Given the description of an element on the screen output the (x, y) to click on. 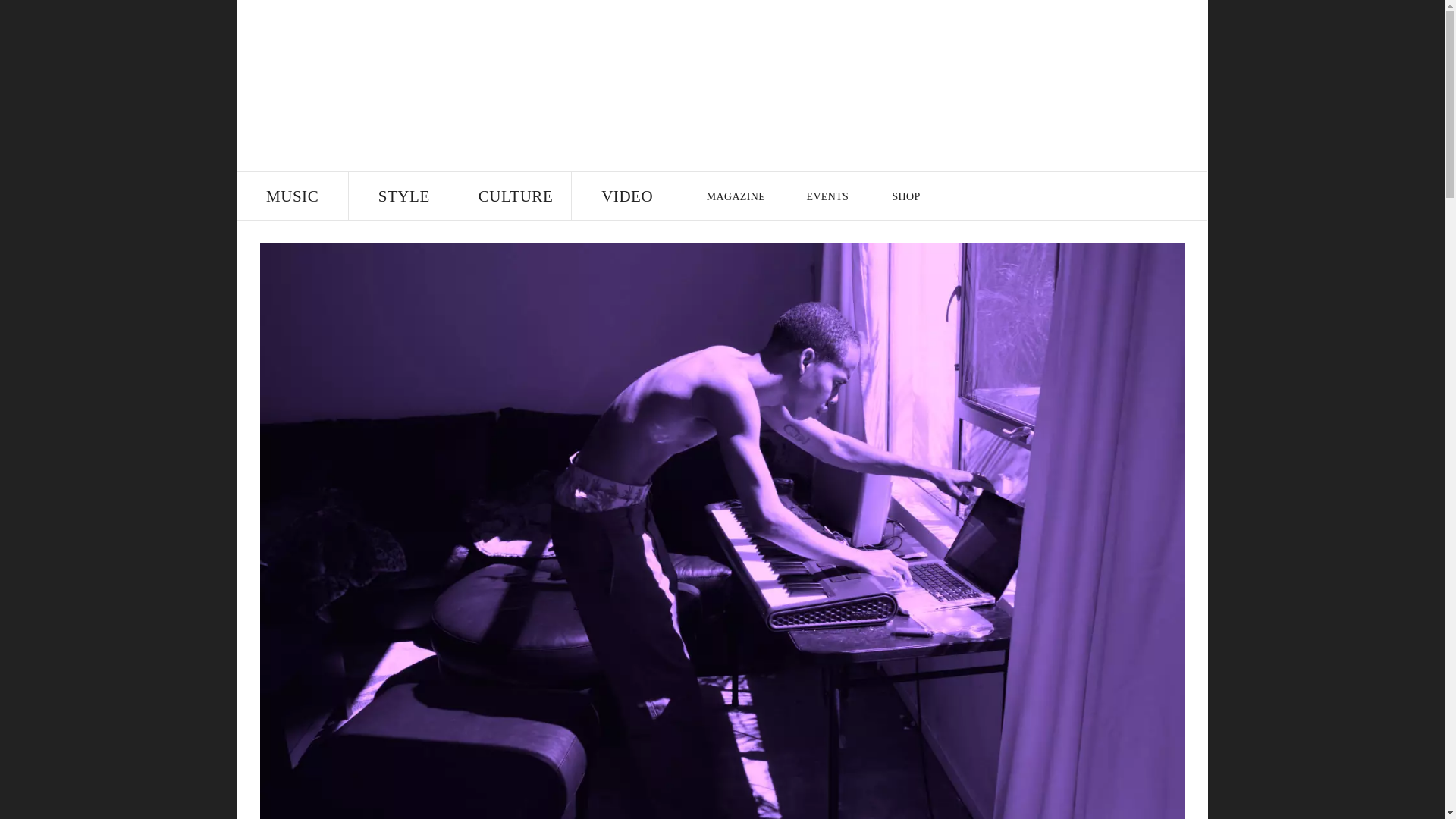
STYLE (404, 196)
SHOP (905, 196)
MUSIC (291, 196)
CULTURE (515, 196)
MAGAZINE (734, 196)
EVENTS (828, 196)
VIDEO (627, 196)
